Given the description of an element on the screen output the (x, y) to click on. 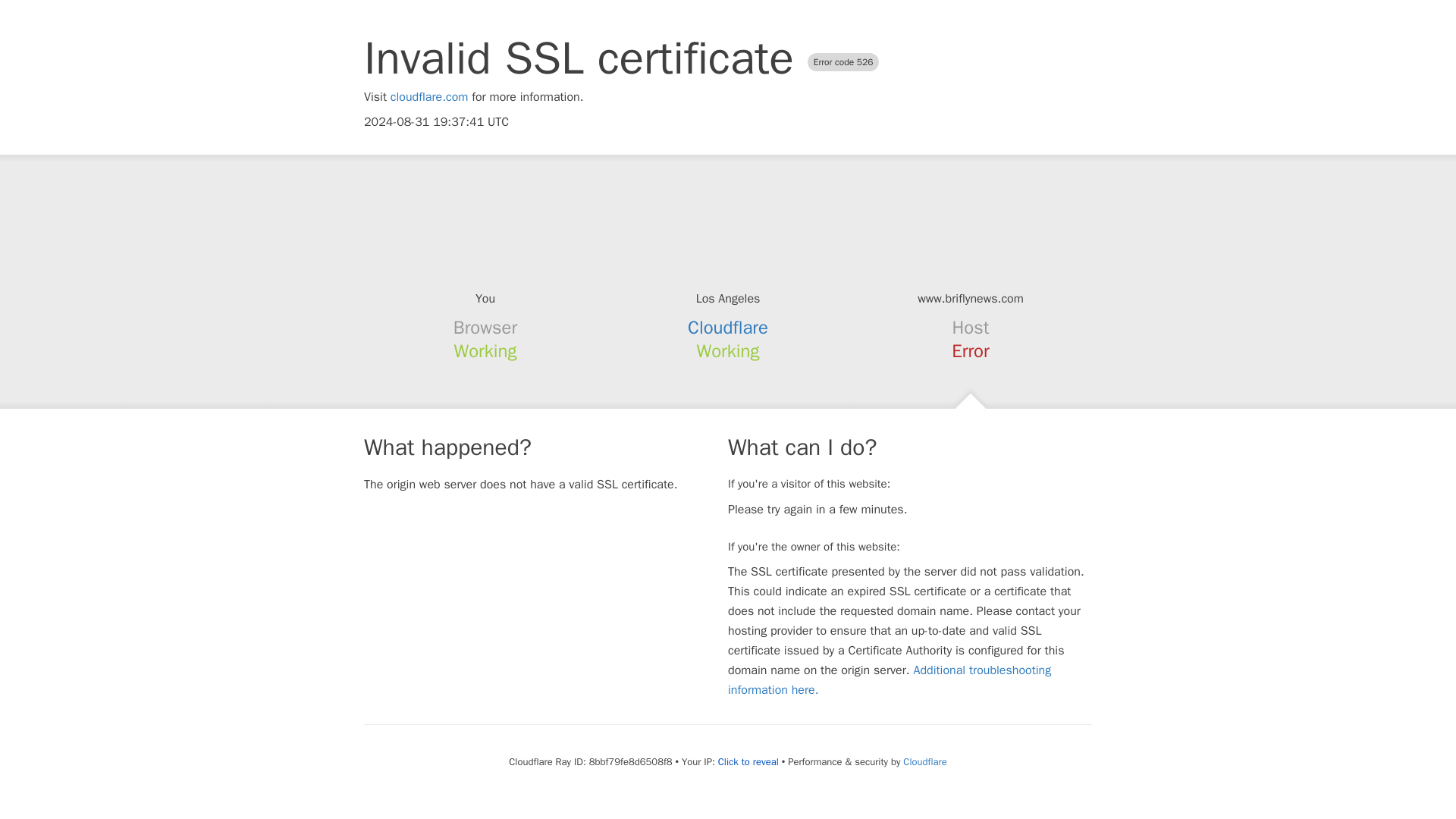
Cloudflare (727, 327)
Additional troubleshooting information here. (889, 679)
cloudflare.com (429, 96)
Click to reveal (747, 762)
Cloudflare (924, 761)
